Given the description of an element on the screen output the (x, y) to click on. 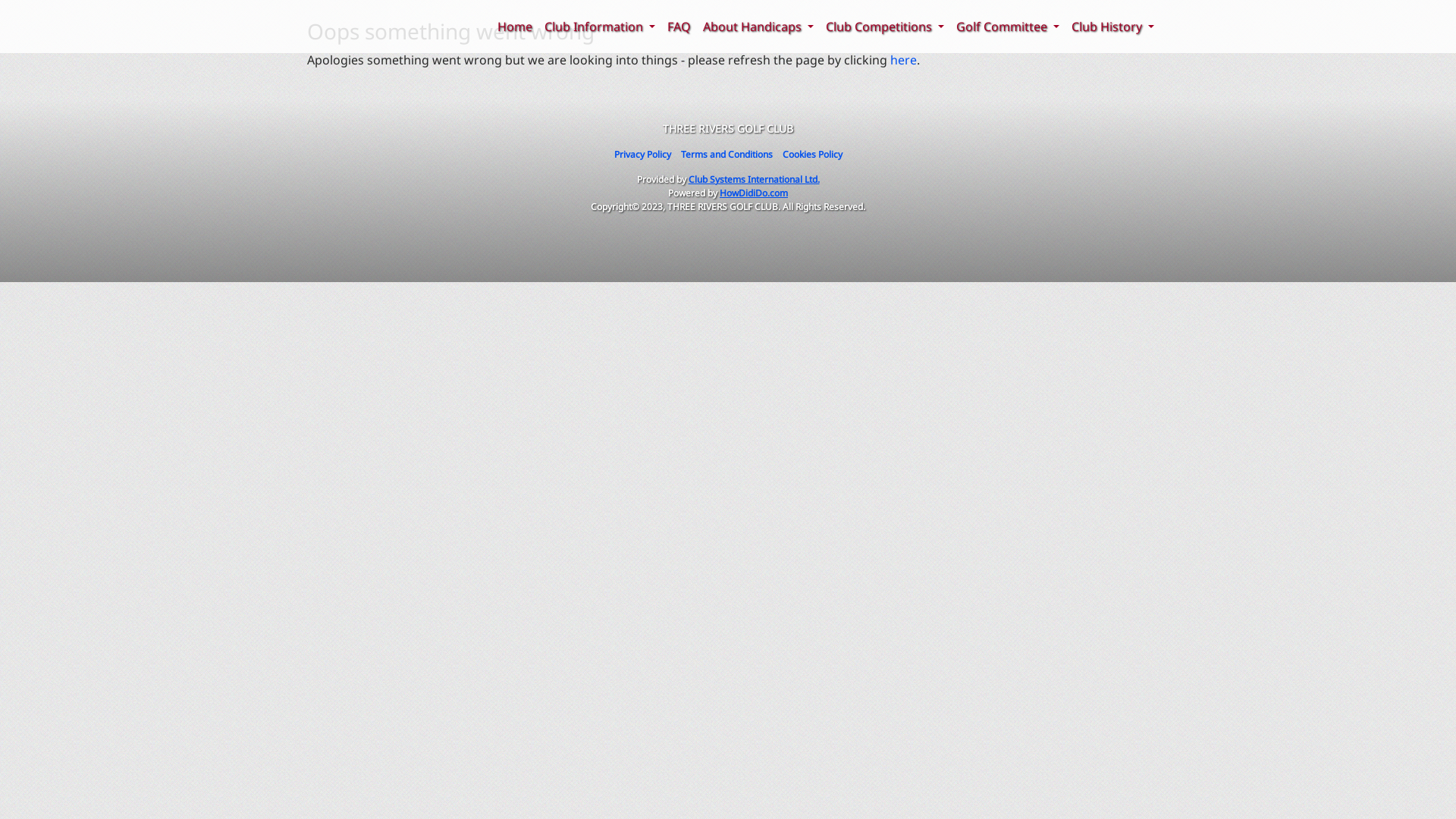
HowDidiDo.com Element type: text (753, 192)
Club Competitions Element type: text (884, 26)
Home Element type: text (514, 26)
Club History Element type: text (1112, 26)
Privacy Policy Element type: text (642, 154)
Terms and Conditions Element type: text (726, 154)
About Handicaps Element type: text (757, 26)
Cookies Policy Element type: text (812, 154)
here Element type: text (903, 59)
Club Systems International Ltd. Element type: text (753, 178)
FAQ Element type: text (678, 26)
Golf Committee Element type: text (1007, 26)
Club Information Element type: text (599, 26)
